Given the description of an element on the screen output the (x, y) to click on. 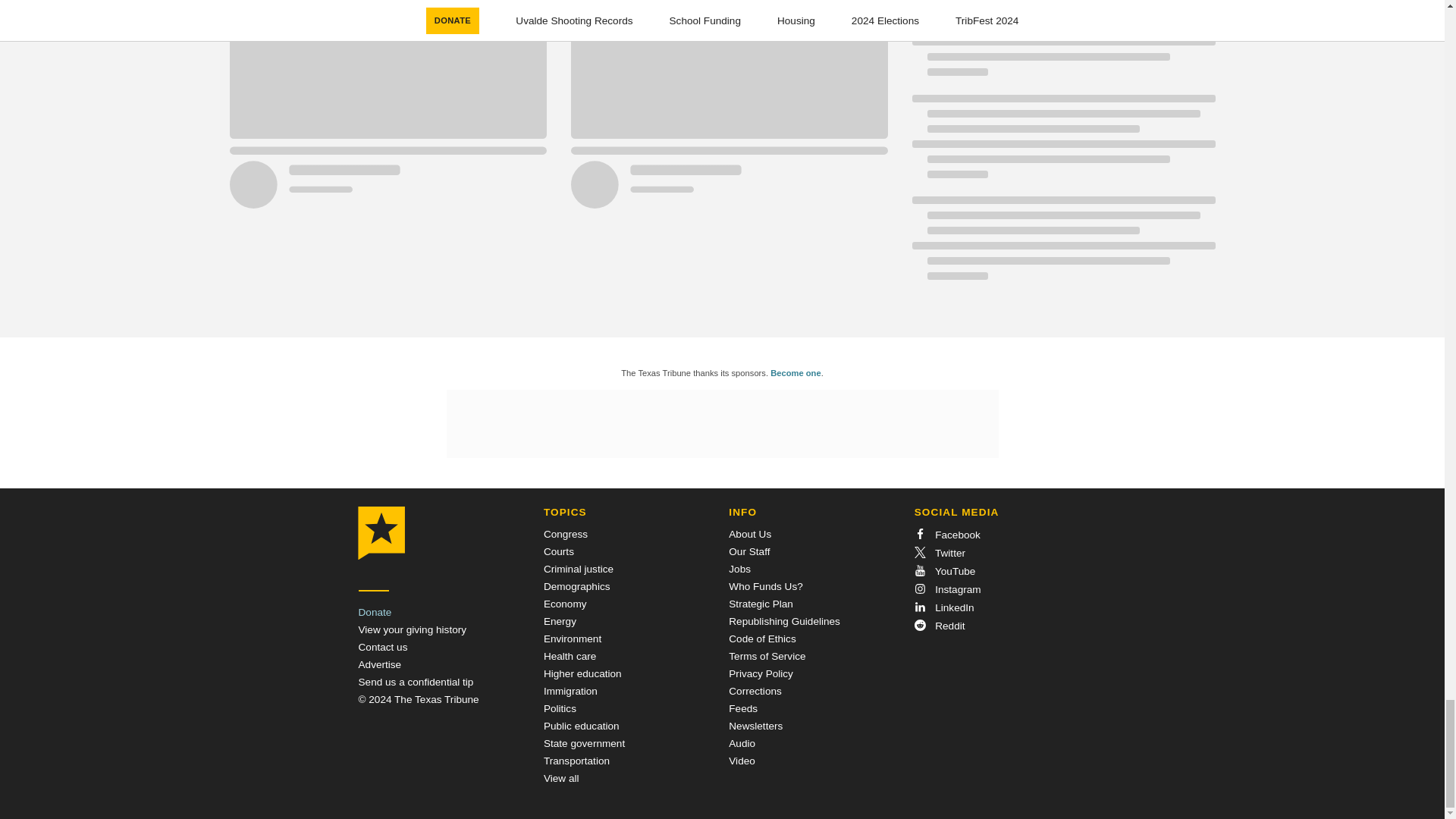
Newsletters (756, 726)
Privacy Policy (761, 673)
Who Funds Us? (765, 586)
Advertise (379, 664)
Terms of Service (767, 655)
Contact us (382, 646)
View your giving history (411, 629)
Code of Ethics (761, 638)
Corrections (755, 690)
Feeds (743, 708)
